Given the description of an element on the screen output the (x, y) to click on. 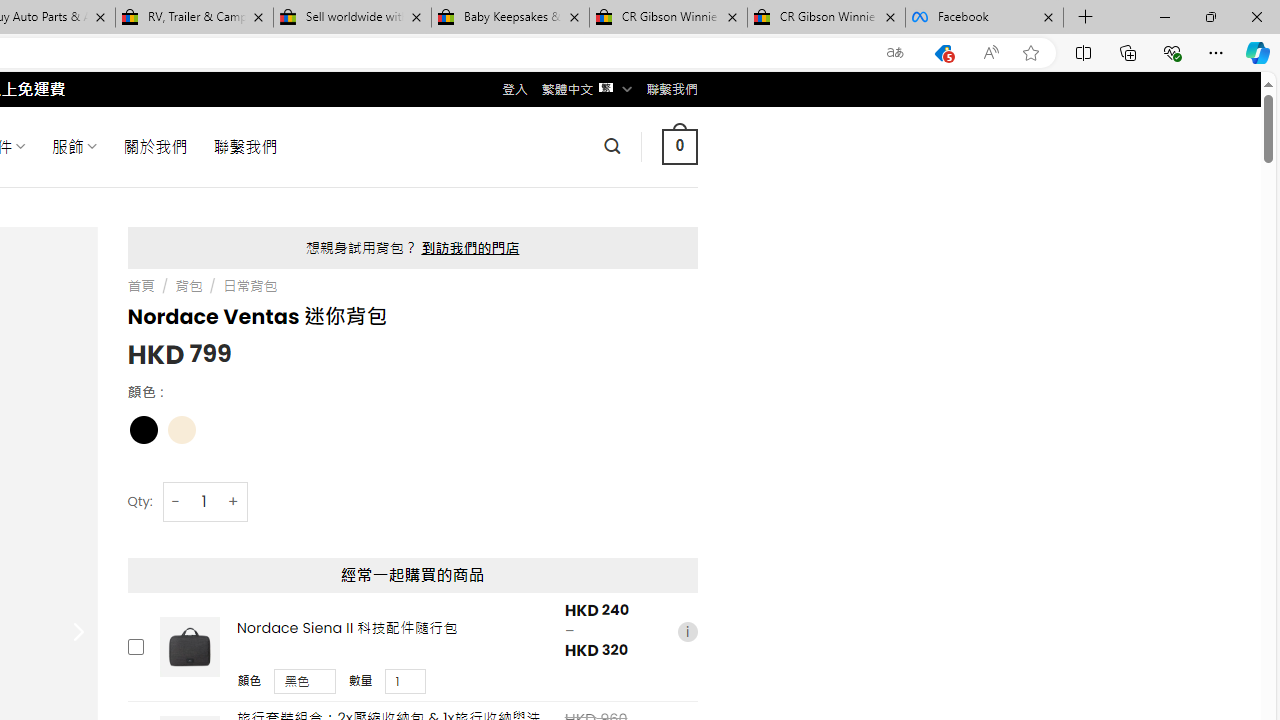
Show translate options (895, 53)
i (687, 632)
+ (234, 501)
- (175, 501)
